Given the description of an element on the screen output the (x, y) to click on. 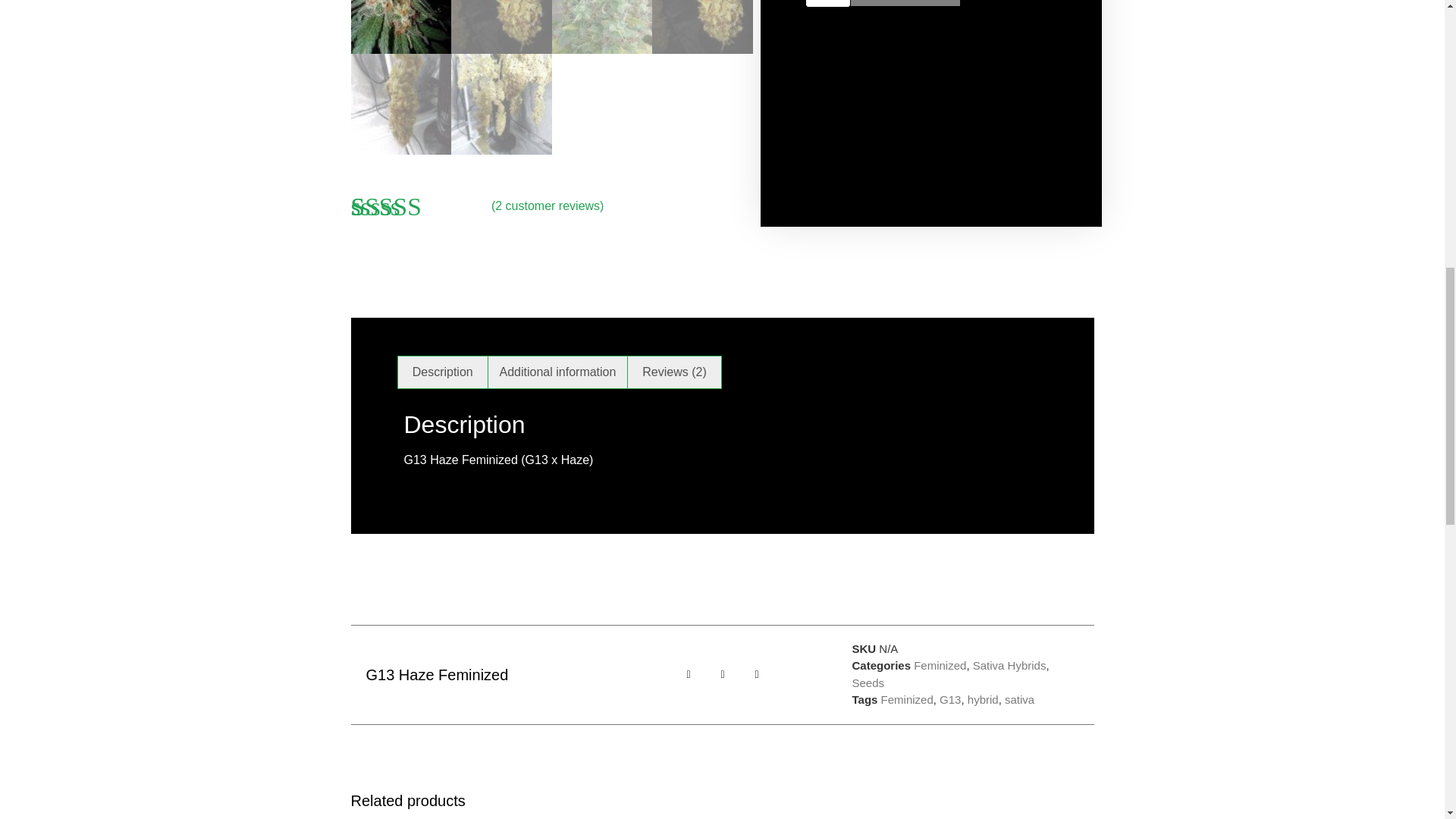
1 (826, 3)
